Given the description of an element on the screen output the (x, y) to click on. 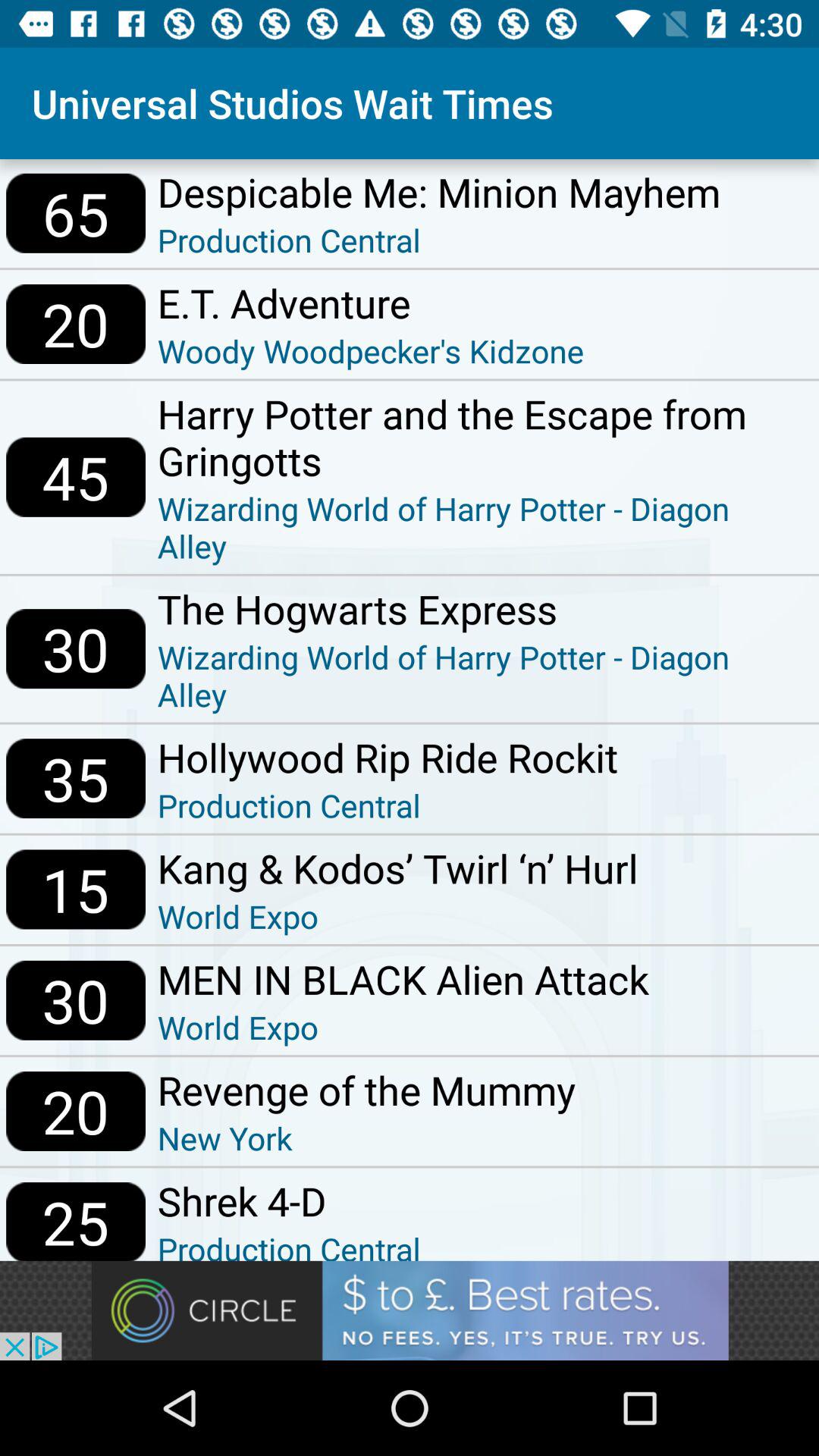
launch the item to the right of 15 item (397, 867)
